Given the description of an element on the screen output the (x, y) to click on. 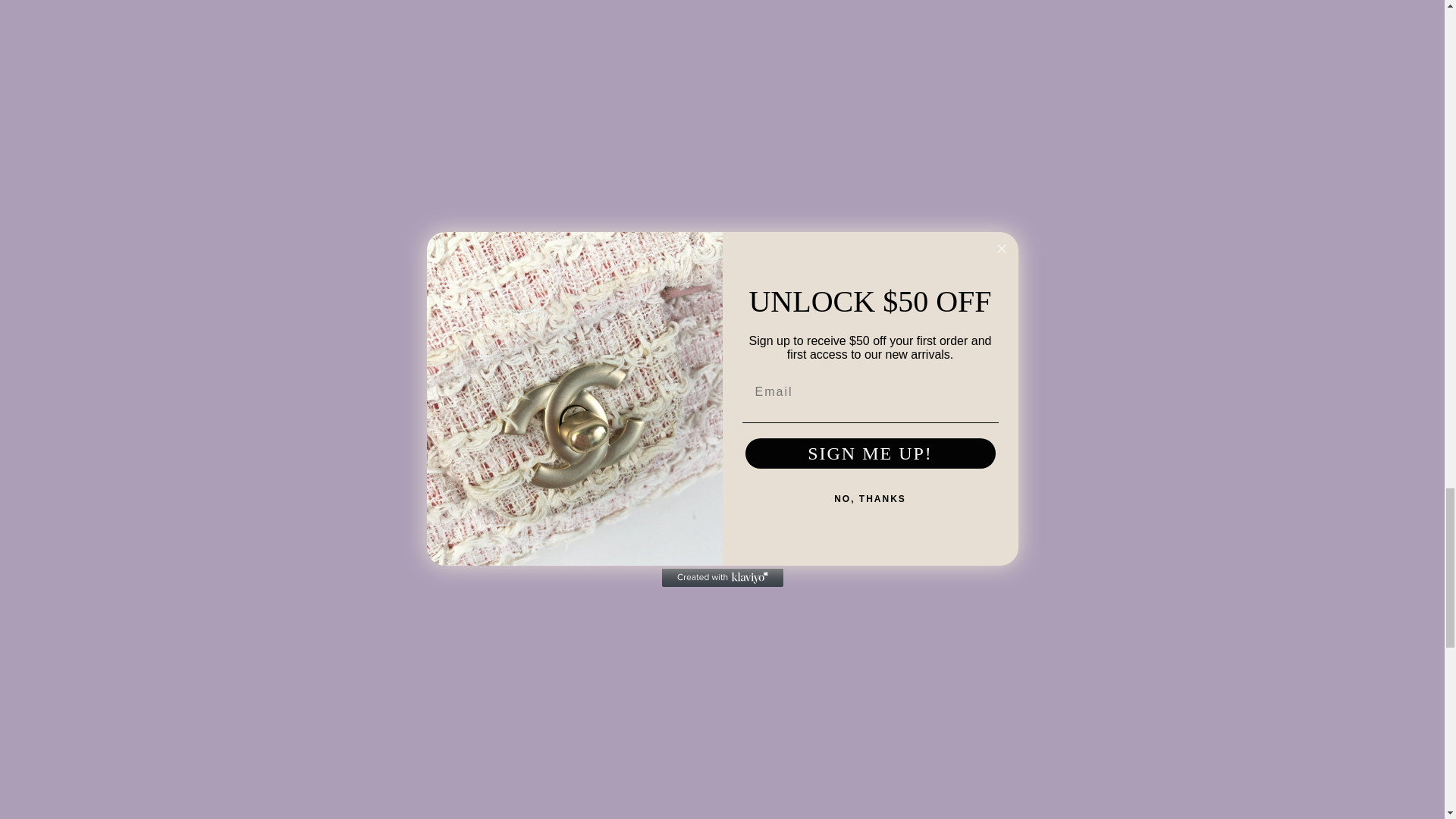
CONTINUE READING (474, 451)
Handbag news (503, 12)
Guides (437, 12)
